Given the description of an element on the screen output the (x, y) to click on. 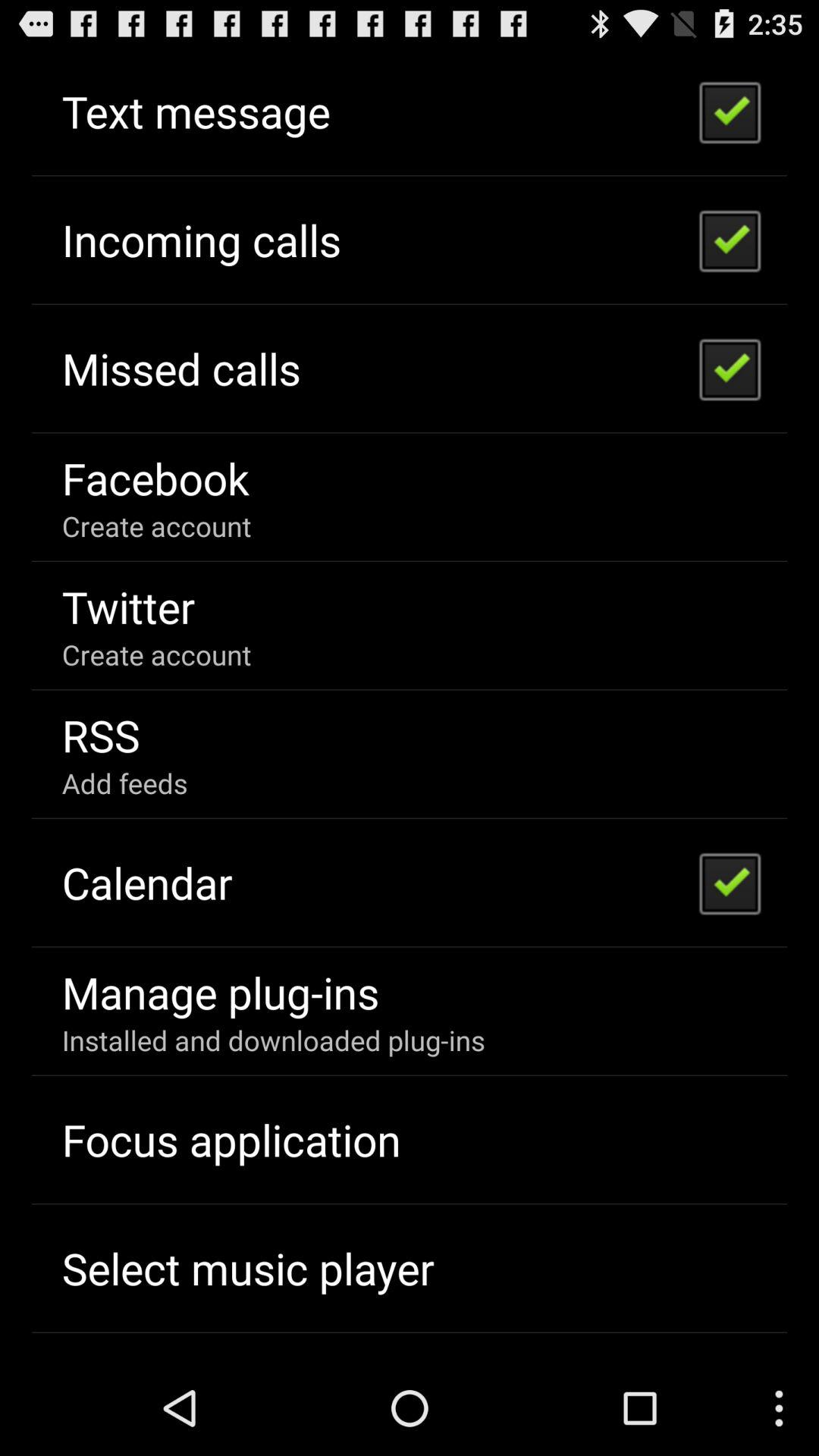
scroll until the text message item (195, 110)
